Given the description of an element on the screen output the (x, y) to click on. 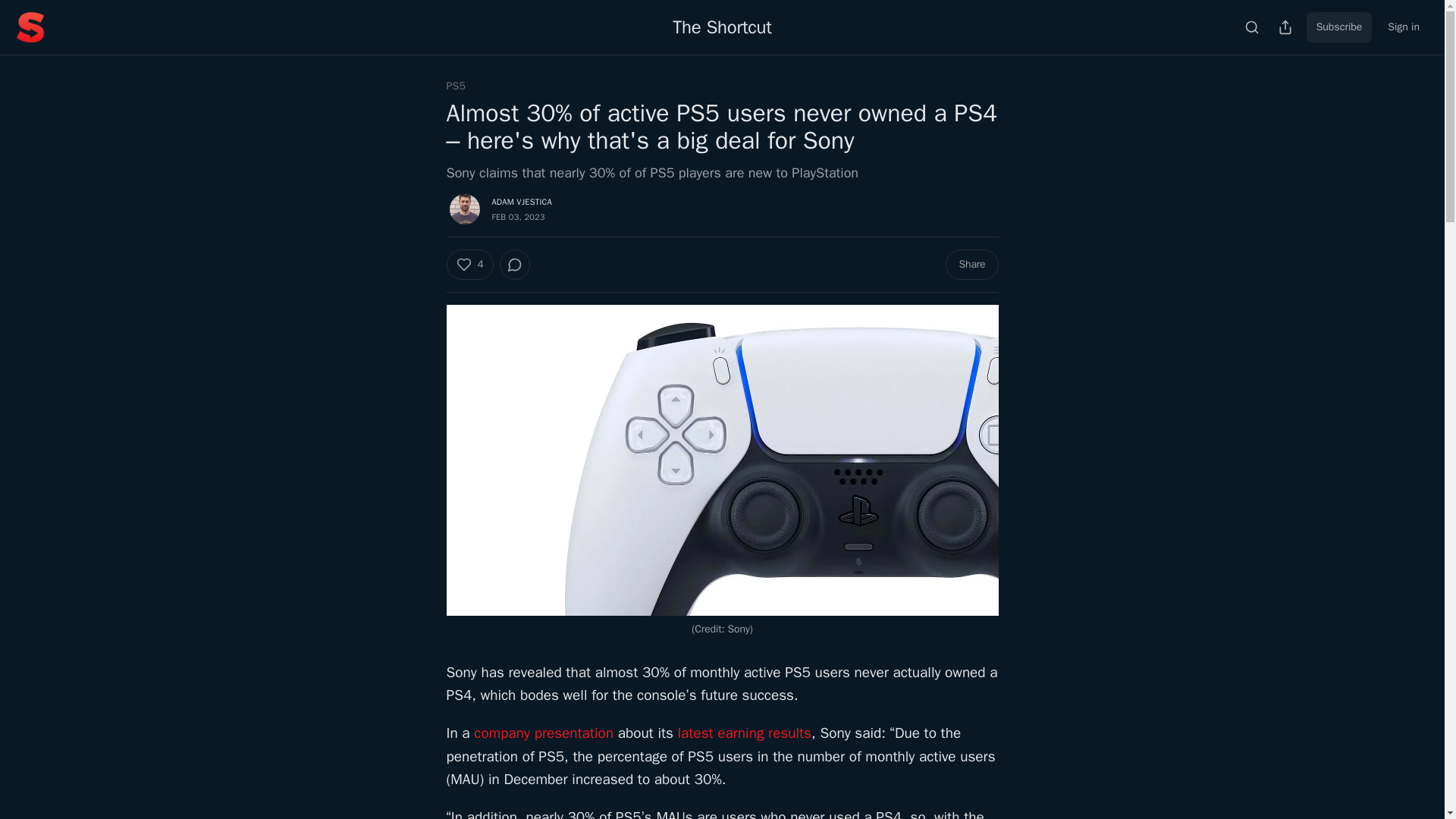
Subscribe (1339, 27)
latest earning results (744, 732)
PS5 (455, 86)
company presentation (543, 732)
The Shortcut (721, 26)
Sign in (1403, 27)
4 (469, 264)
ADAM VJESTICA (521, 201)
Share (970, 264)
